Given the description of an element on the screen output the (x, y) to click on. 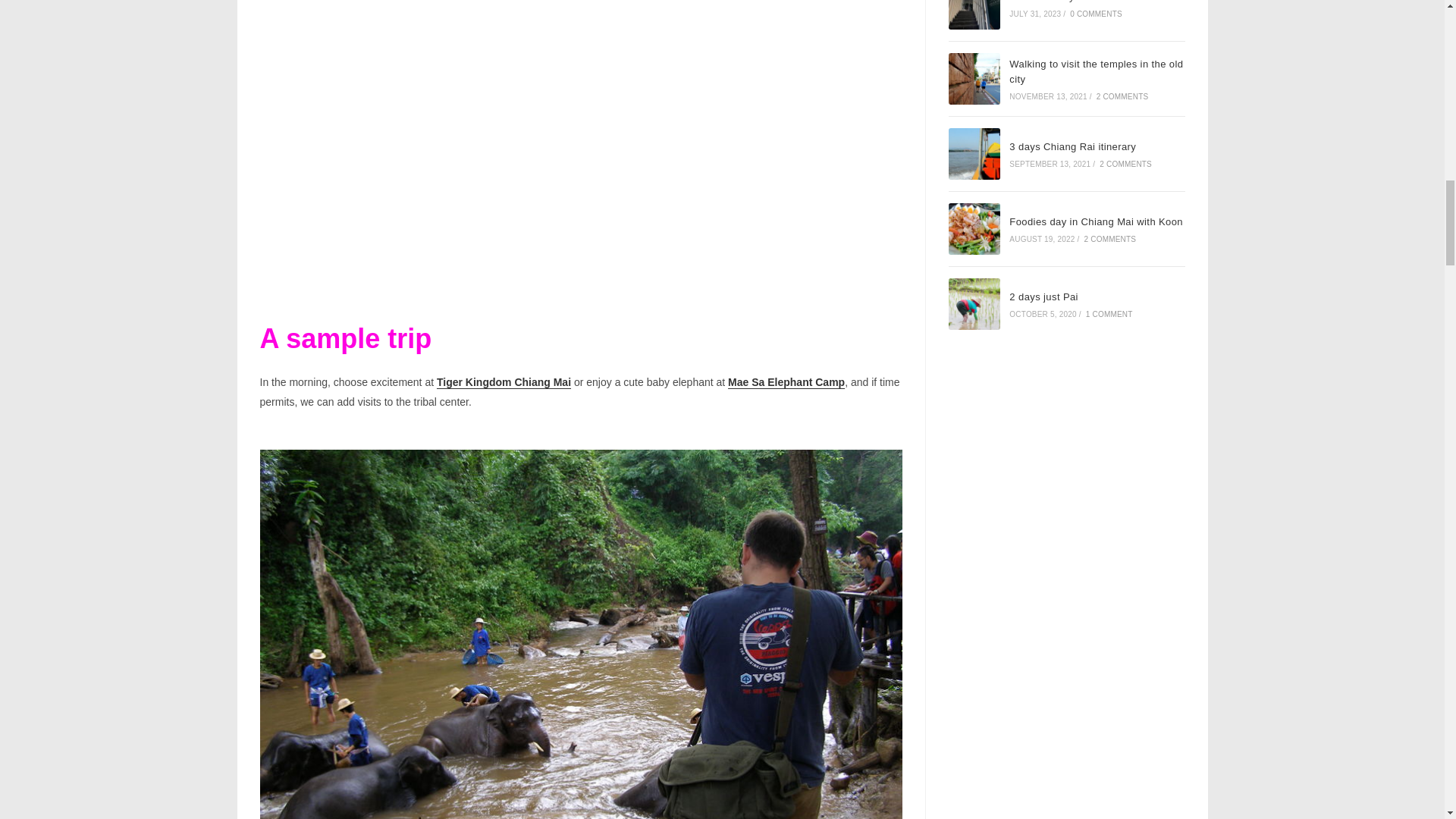
Walking to visit the temples in the old city (974, 78)
North Hill City Resort (974, 14)
Mae Sa Elephant Camp (786, 381)
Tiger Kingdom Chiang Mai (503, 381)
Foodies day in Chiang Mai with Koon (974, 228)
2 days just Pai (974, 304)
3 days Chiang Rai itinerary (974, 153)
